Given the description of an element on the screen output the (x, y) to click on. 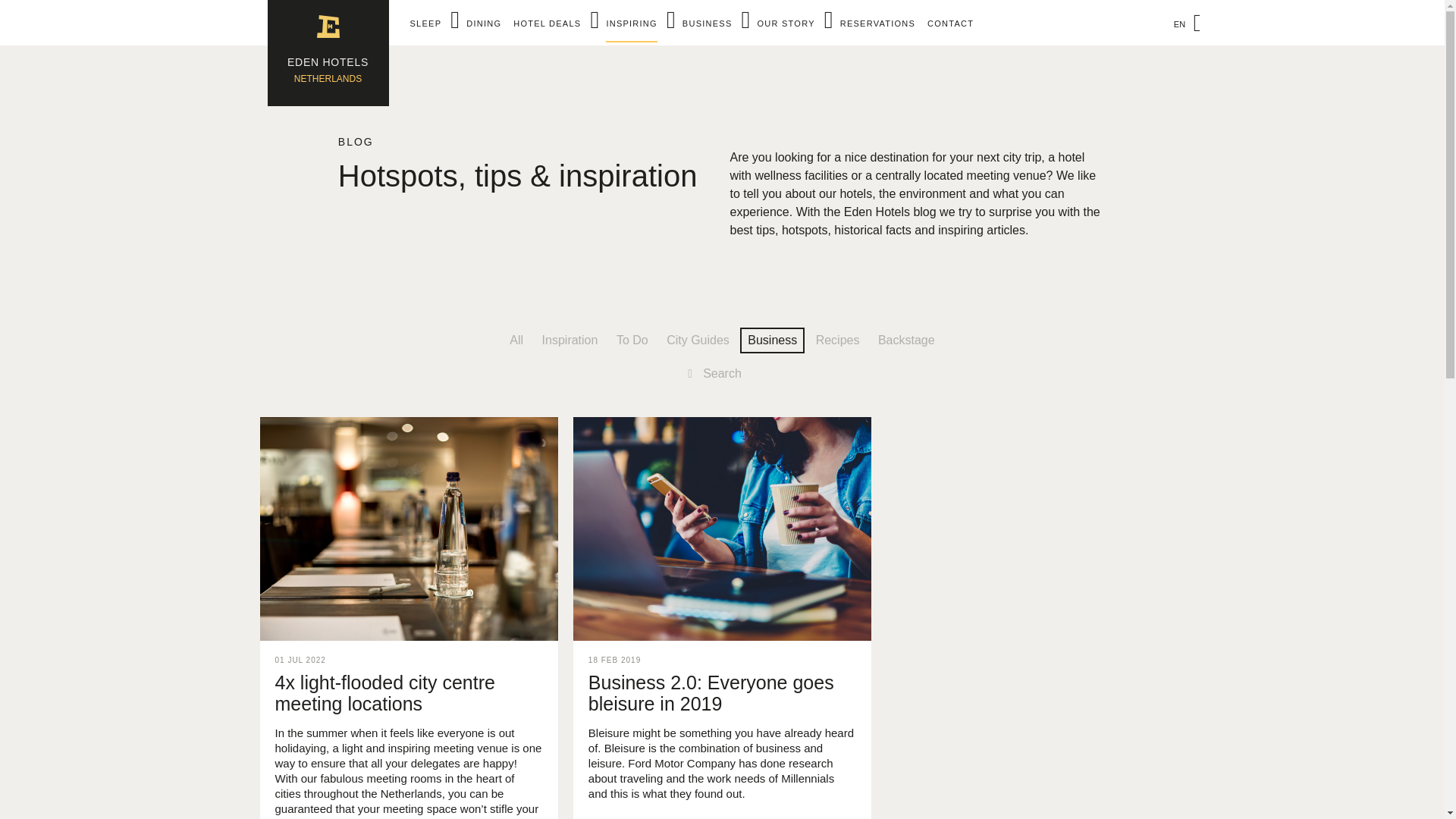
Business (772, 339)
INSPIRING (630, 23)
Inspiration (569, 339)
CONTACT (950, 22)
RESERVATIONS (877, 22)
EN (1182, 24)
Eden Hotels (327, 53)
DINING (482, 22)
City Guides (697, 339)
All (516, 339)
To Do (632, 339)
HOTEL DEALS (546, 22)
BUSINESS (327, 53)
OUR STORY (707, 22)
